Given the description of an element on the screen output the (x, y) to click on. 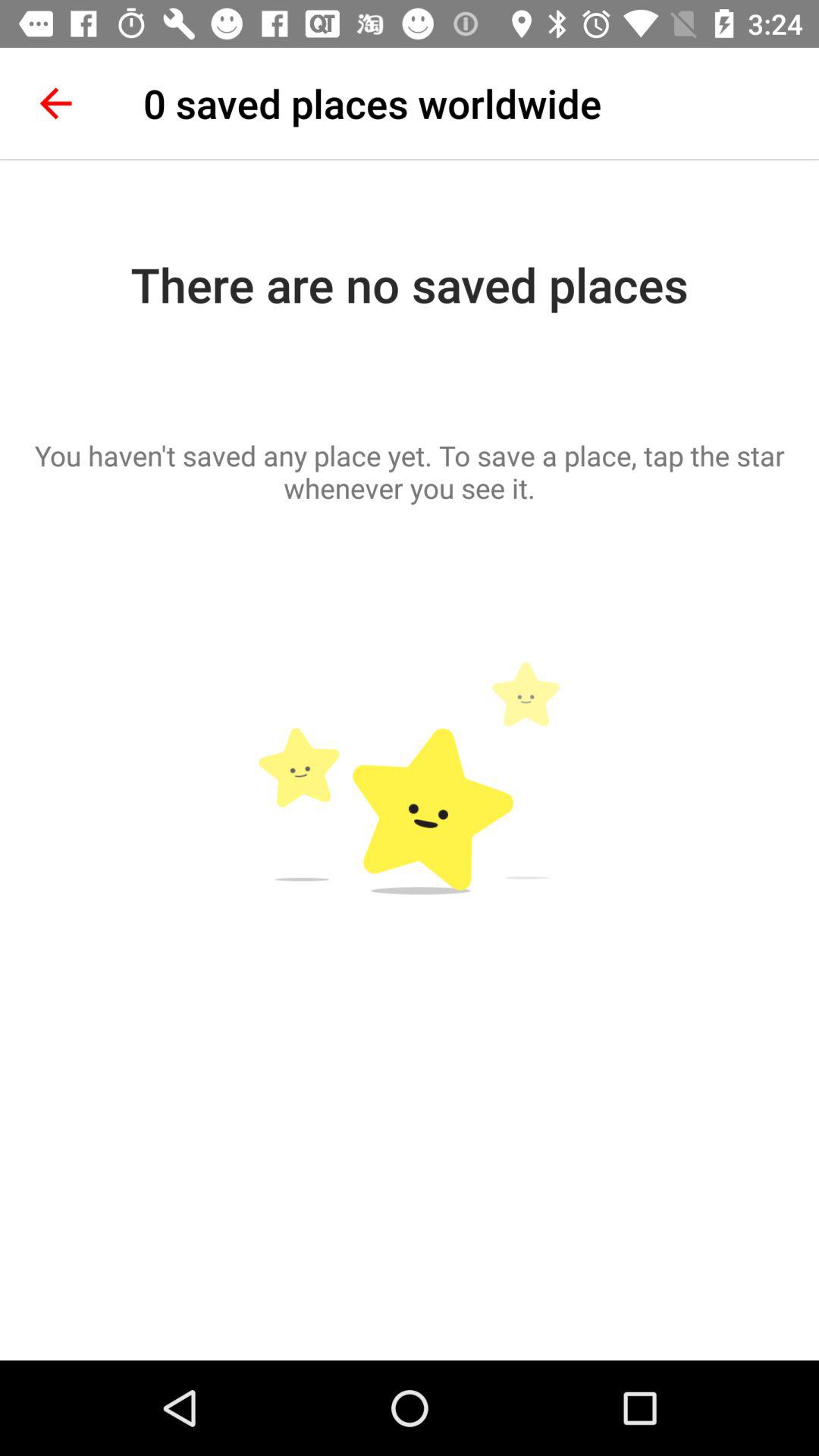
turn off icon to the left of the 0 saved places (55, 103)
